Given the description of an element on the screen output the (x, y) to click on. 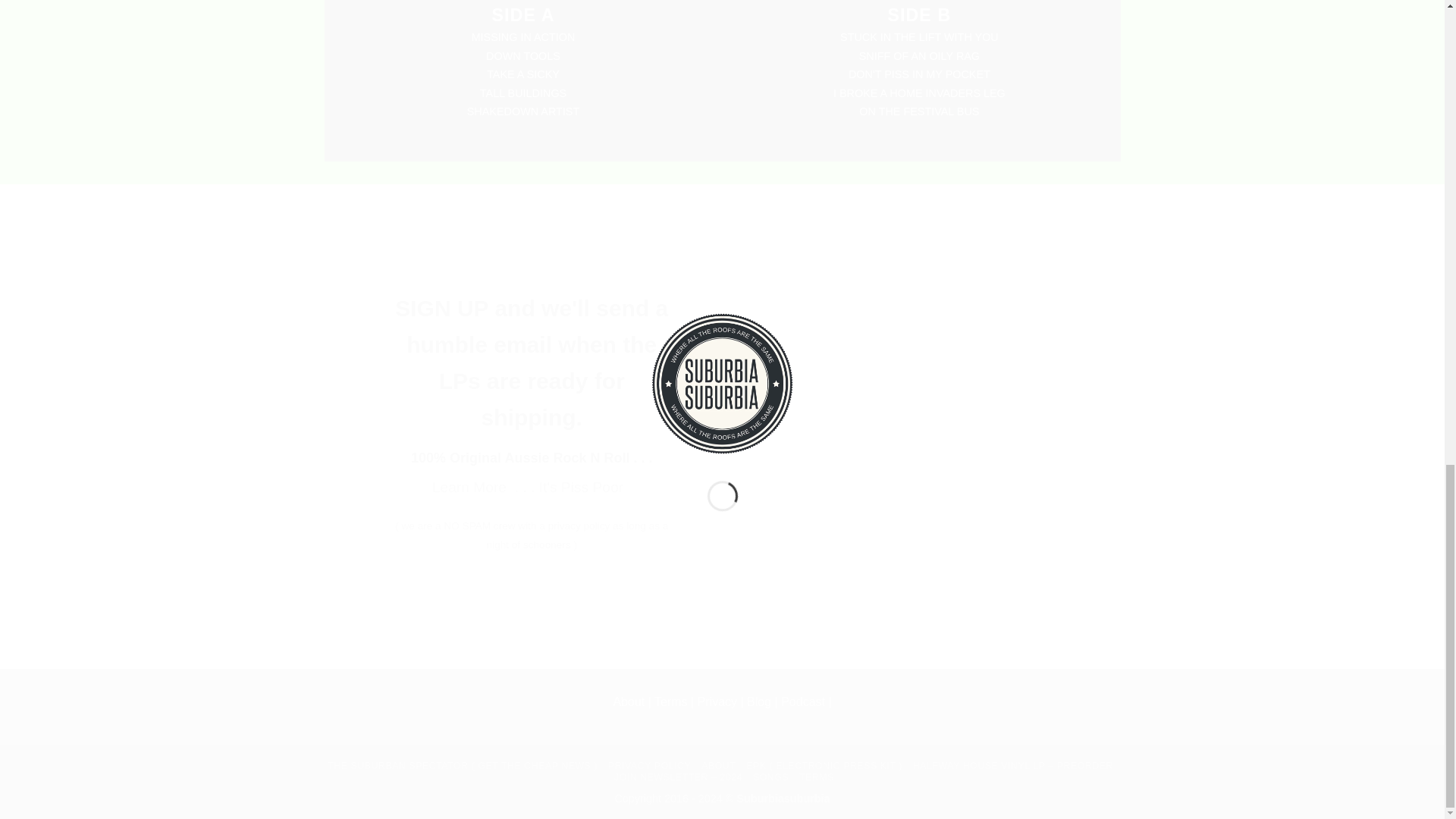
TERMS (816, 777)
Podcast (802, 701)
ABOUT (718, 765)
PRIVACY POLICY (649, 765)
SONGS (770, 777)
Privacy (716, 701)
About (628, 701)
Blog (760, 701)
Terms (670, 701)
